Given the description of an element on the screen output the (x, y) to click on. 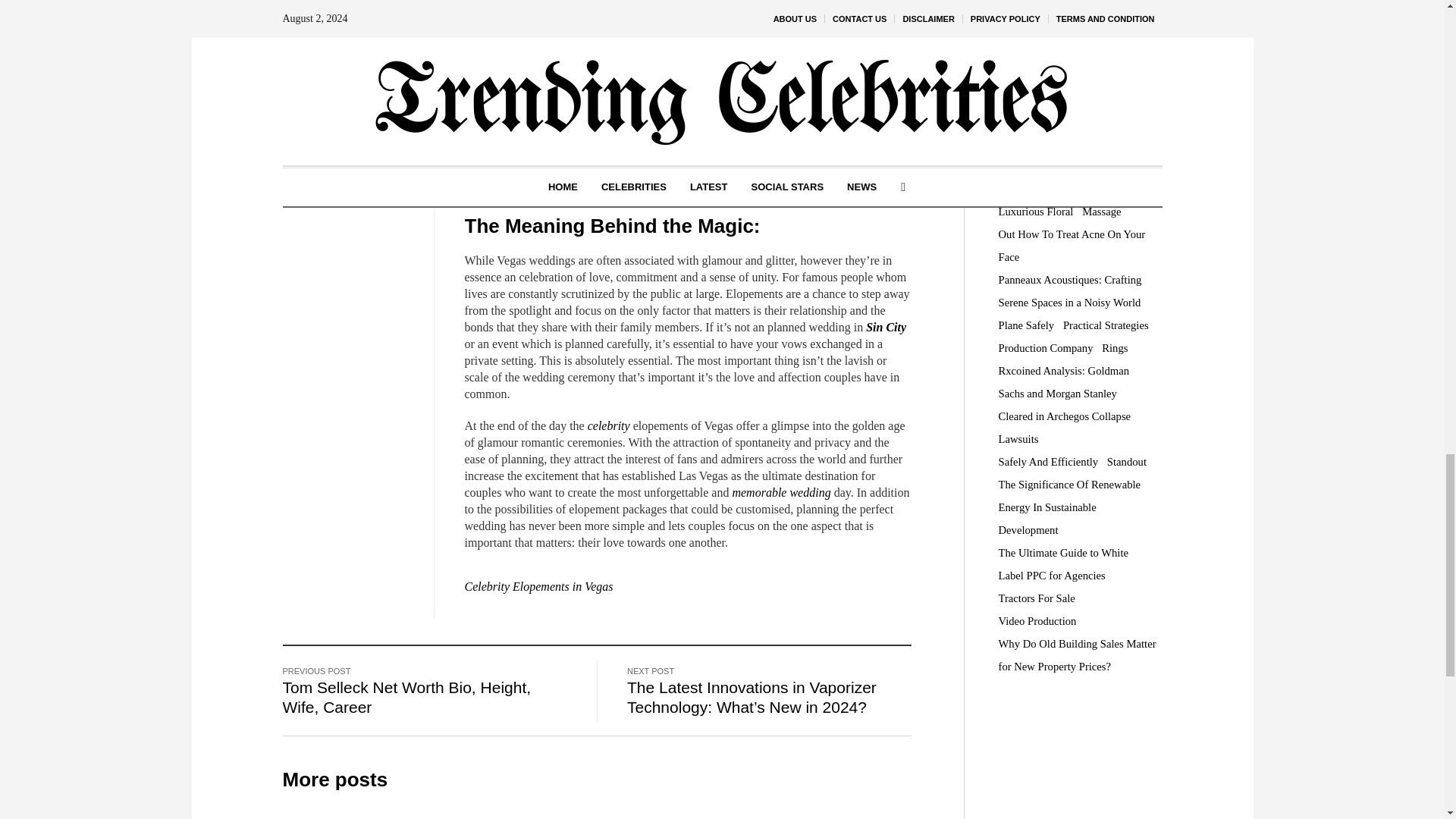
memorable wedding (780, 492)
elopement package in Vegas (745, 23)
Sin City (885, 327)
celebrity (609, 425)
Tom Selleck Net Worth Bio, Height, Wife, Career (406, 697)
Celebrity Elopements in Vegas (538, 585)
